Given the description of an element on the screen output the (x, y) to click on. 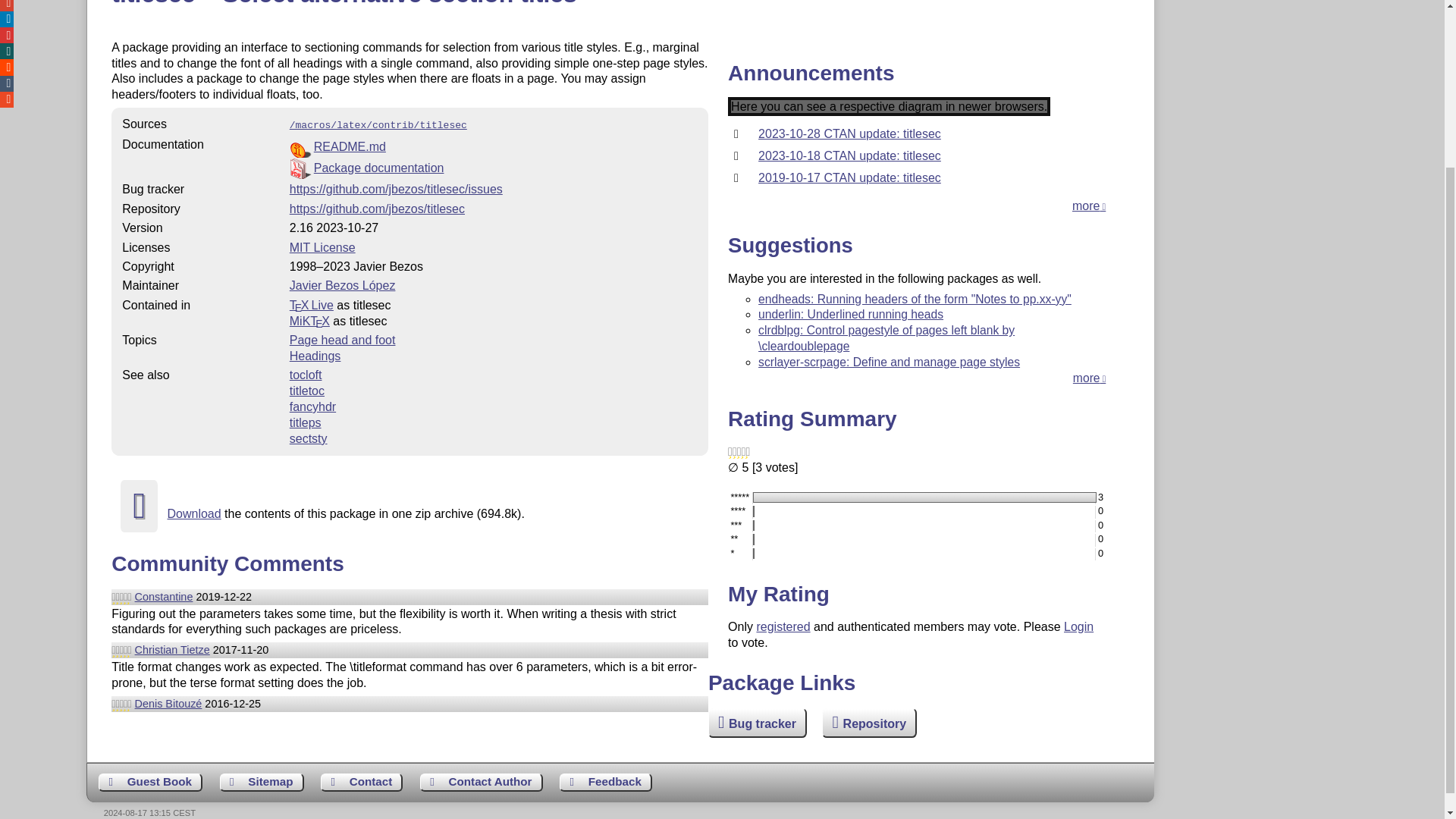
Send feedback on the current web page to the Web masters (605, 782)
Spectrum indicating the announcements for the package (888, 106)
Portable Document Format (493, 168)
Read Me file (493, 147)
Get help on how to contact an author (481, 782)
README.md (349, 146)
Leave some words for other visitors (150, 782)
Get contact information for the Web site (361, 782)
Package documentation (379, 167)
